Given the description of an element on the screen output the (x, y) to click on. 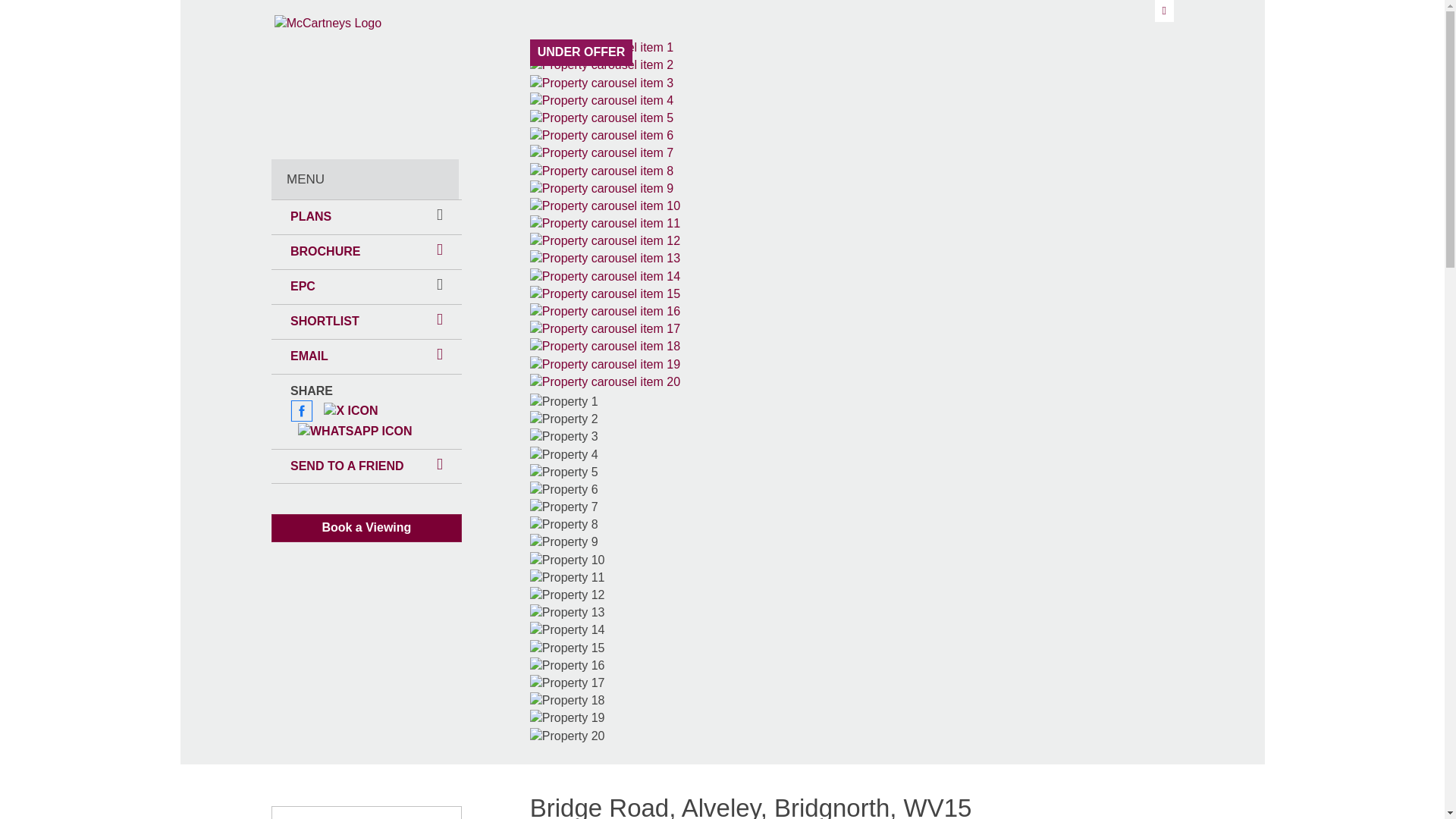
SHORTLIST (365, 321)
BROCHURE (365, 252)
FACEBOOK LOGO (301, 410)
SEND TO A FRIEND (365, 466)
EPC (302, 286)
MENU (364, 178)
Book a Viewing (365, 528)
FACEBOOK LOGO (301, 410)
EMAIL (365, 356)
Share on Twitter (350, 411)
Share on Whatsapp (355, 430)
PLANS (310, 217)
Share on Facebook (301, 410)
